Given the description of an element on the screen output the (x, y) to click on. 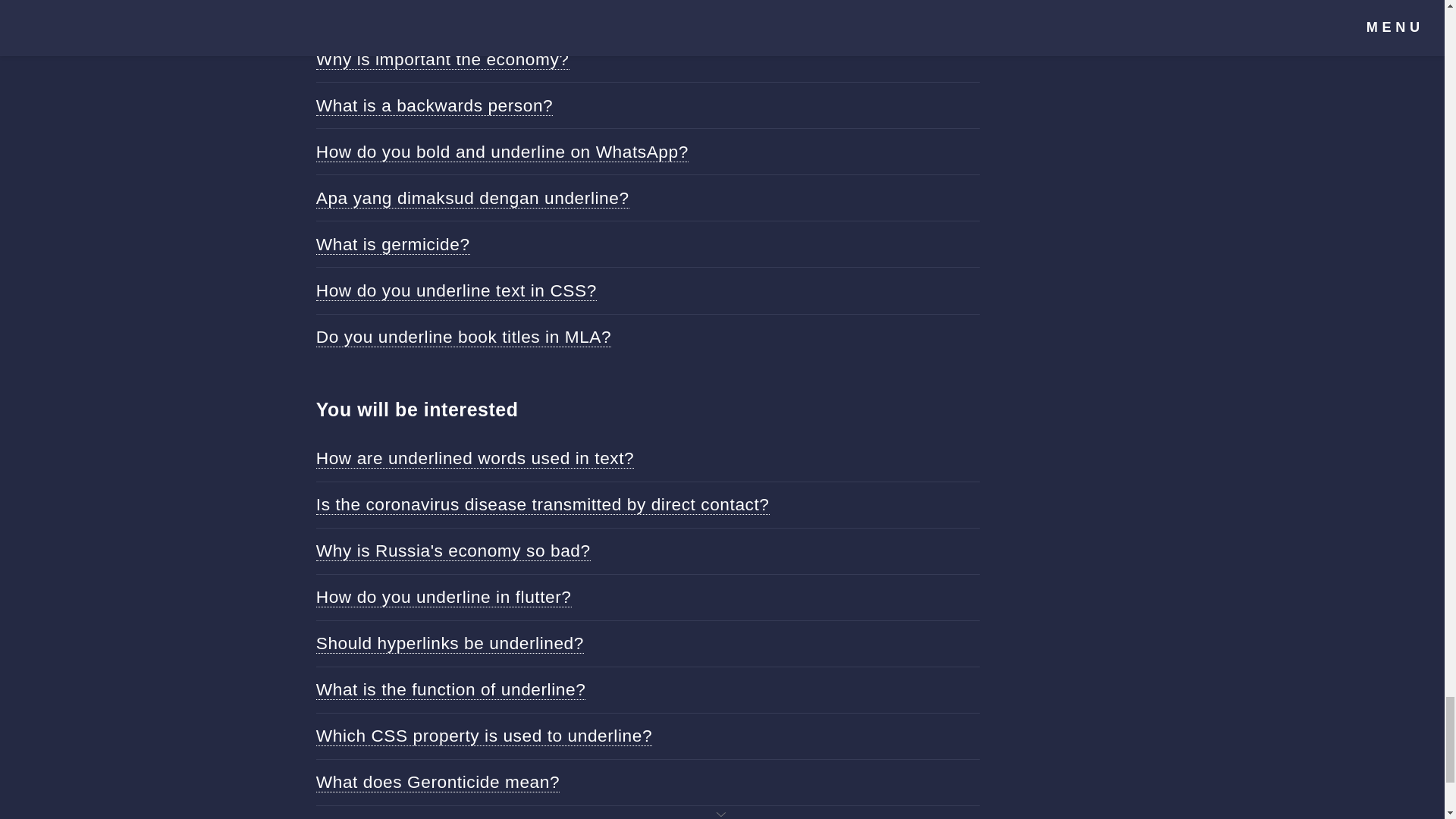
How are underlined words used in text? (474, 457)
What is antonyms of backward? (443, 12)
How do you underline in flutter? (443, 597)
How do you underline text in CSS? (455, 290)
How do you bold and underline on WhatsApp? (501, 151)
Apa yang dimaksud dengan underline? (471, 198)
Do you underline book titles in MLA? (463, 336)
Why is important the economy? (442, 58)
What is germicide? (392, 244)
Why is Russia's economy so bad? (453, 550)
Should hyperlinks be underlined? (449, 643)
Is the coronavirus disease transmitted by direct contact? (542, 504)
What is a backwards person? (434, 105)
